Given the description of an element on the screen output the (x, y) to click on. 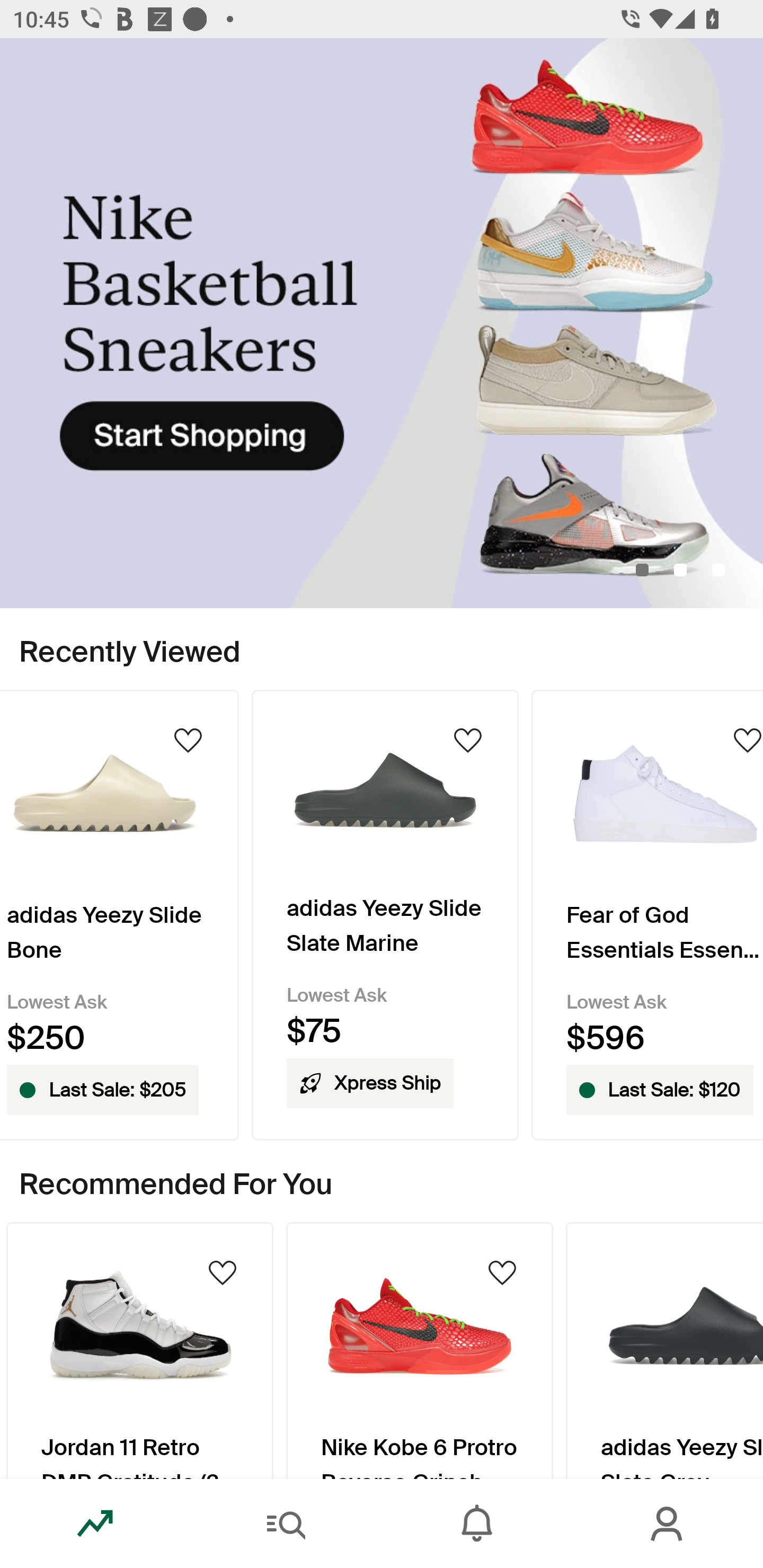
NikeBasketballSprint_Followup_Primary_Mobile.jpg (381, 322)
Product Image Jordan 11 Retro DMP Gratitude (2023) (139, 1349)
Product Image Nike Kobe 6 Protro Reverse Grinch (419, 1349)
Product Image adidas Yeezy Slide Slate Grey (664, 1349)
Search (285, 1523)
Inbox (476, 1523)
Account (667, 1523)
